Given the description of an element on the screen output the (x, y) to click on. 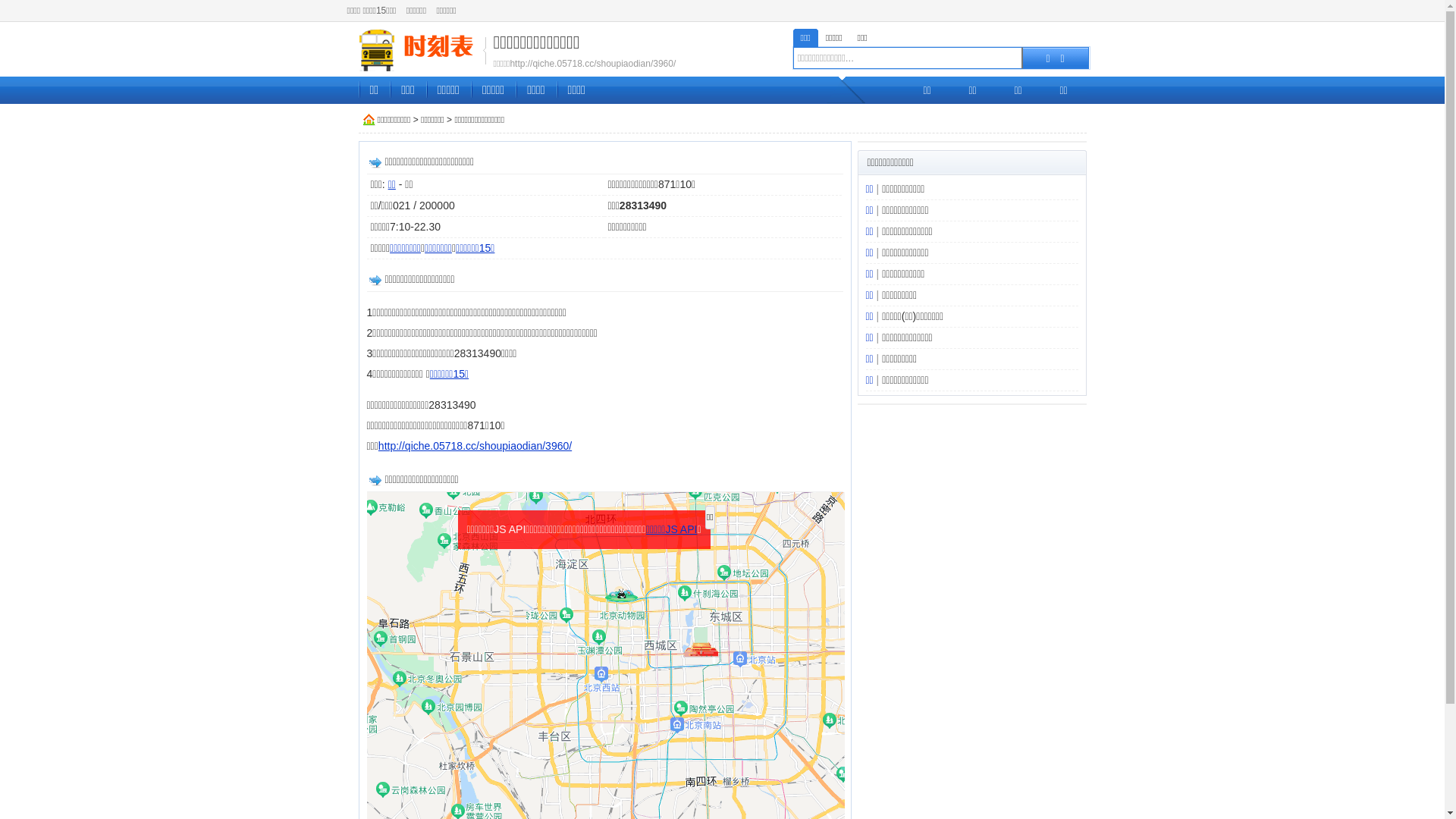
http://qiche.05718.cc/shoupiaodian/3960/ Element type: text (474, 445)
